Given the description of an element on the screen output the (x, y) to click on. 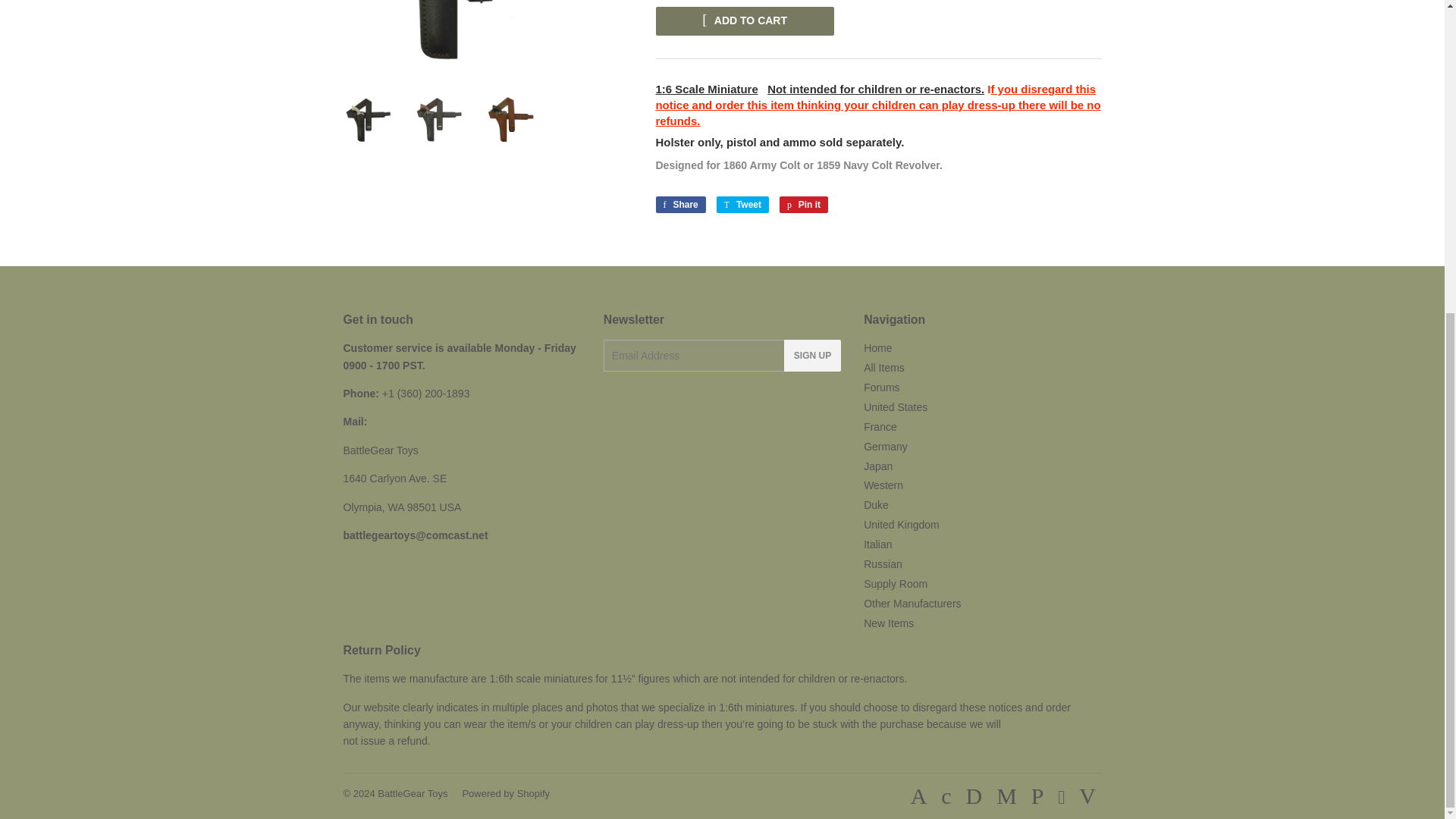
Pin on Pinterest (803, 204)
Tweet on Twitter (742, 204)
Share on Facebook (679, 204)
